Given the description of an element on the screen output the (x, y) to click on. 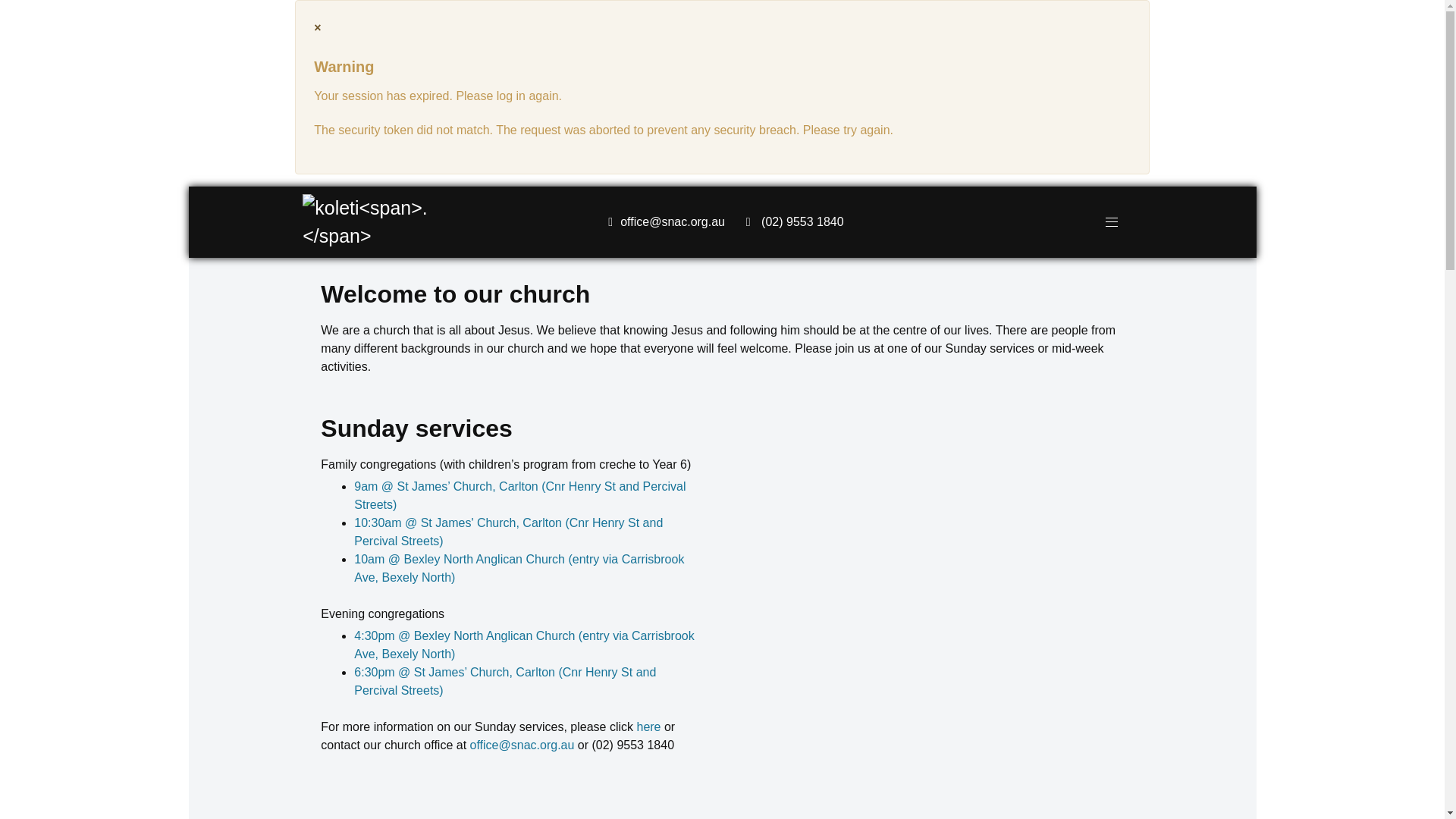
office@snac.org.au Element type: text (522, 744)
office@snac.org.au Element type: text (672, 221)
Koleti Element type: hover (380, 220)
here Element type: text (648, 726)
